Given the description of an element on the screen output the (x, y) to click on. 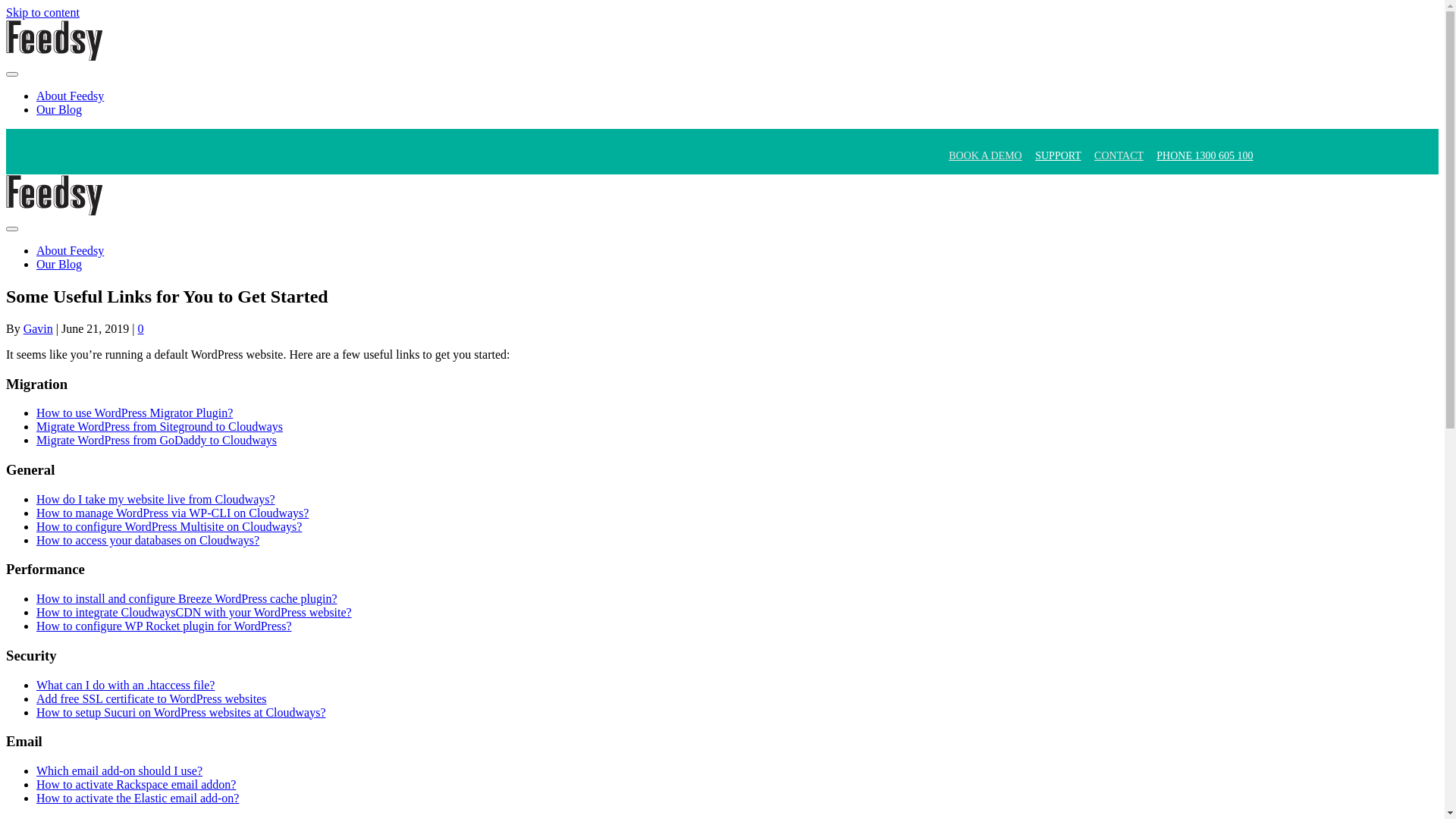
How to configure WP Rocket plugin for WordPress? Element type: text (163, 625)
Our Blog Element type: text (58, 109)
Which email add-on should I use? Element type: text (119, 770)
Menu Element type: text (12, 228)
What can I do with an .htaccess file? Element type: text (125, 684)
How to activate Rackspace email addon? Element type: text (135, 784)
CONTACT Element type: text (1118, 155)
How to use WordPress Migrator Plugin? Element type: text (134, 412)
How to configure WordPress Multisite on Cloudways? Element type: text (168, 526)
Skip to content Element type: text (42, 12)
0 Element type: text (141, 328)
BOOK A DEMO Element type: text (984, 155)
Migrate WordPress from GoDaddy to Cloudways Element type: text (156, 439)
Menu Element type: text (12, 74)
Gavin Element type: text (38, 328)
Add free SSL certificate to WordPress websites Element type: text (151, 698)
PHONE 1300 605 100 Element type: text (1204, 155)
How to activate the Elastic email add-on? Element type: text (137, 797)
How to integrate CloudwaysCDN with your WordPress website? Element type: text (193, 611)
Migrate WordPress from Siteground to Cloudways Element type: text (159, 426)
About Feedsy Element type: text (69, 95)
How to manage WordPress via WP-CLI on Cloudways? Element type: text (172, 512)
How to access your databases on Cloudways? Element type: text (147, 539)
How to install and configure Breeze WordPress cache plugin? Element type: text (186, 598)
How to setup Sucuri on WordPress websites at Cloudways? Element type: text (181, 712)
How do I take my website live from Cloudways? Element type: text (155, 498)
Our Blog Element type: text (58, 263)
SUPPORT Element type: text (1057, 155)
About Feedsy Element type: text (69, 250)
